Given the description of an element on the screen output the (x, y) to click on. 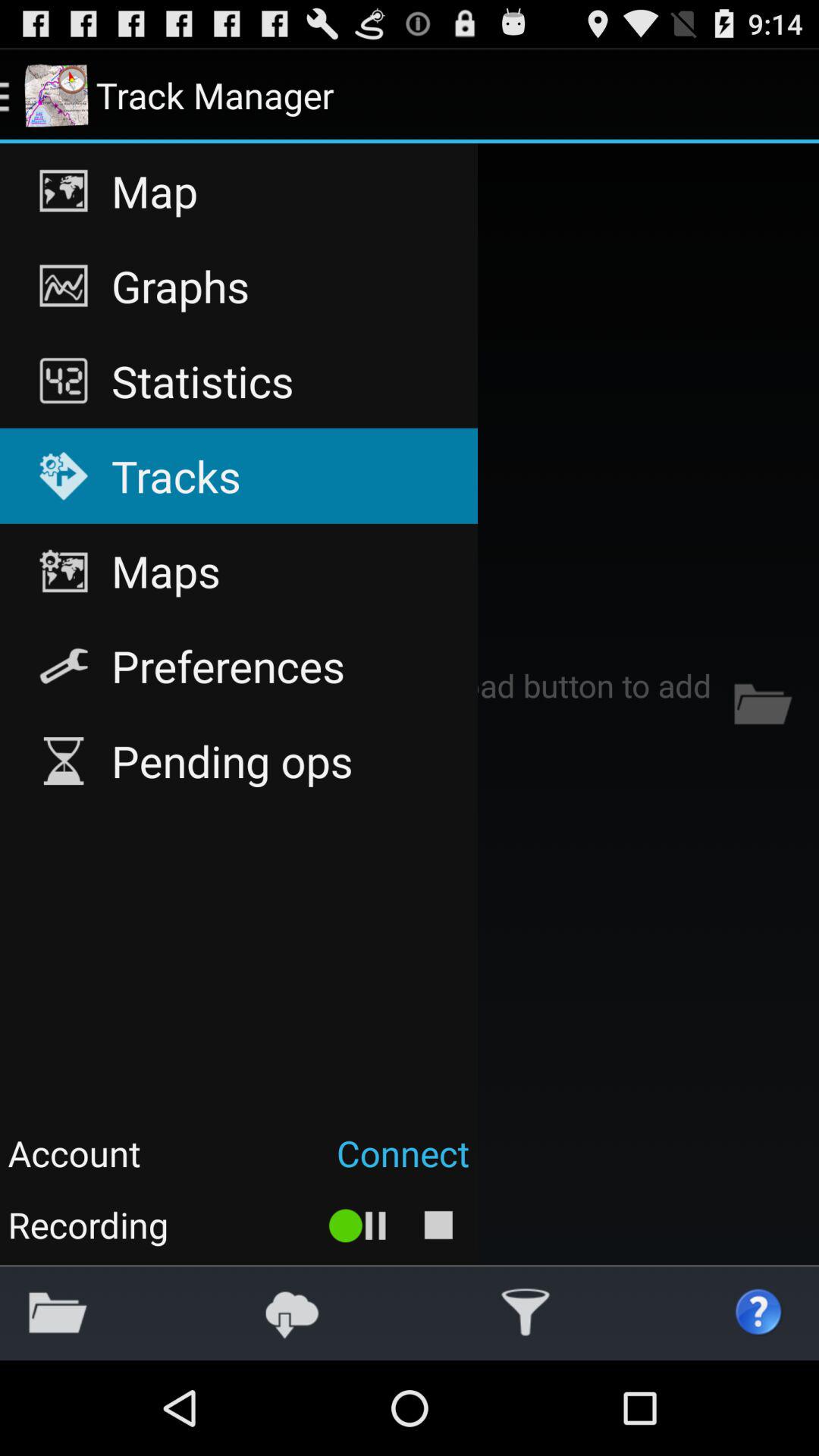
open item above the account item (238, 760)
